Given the description of an element on the screen output the (x, y) to click on. 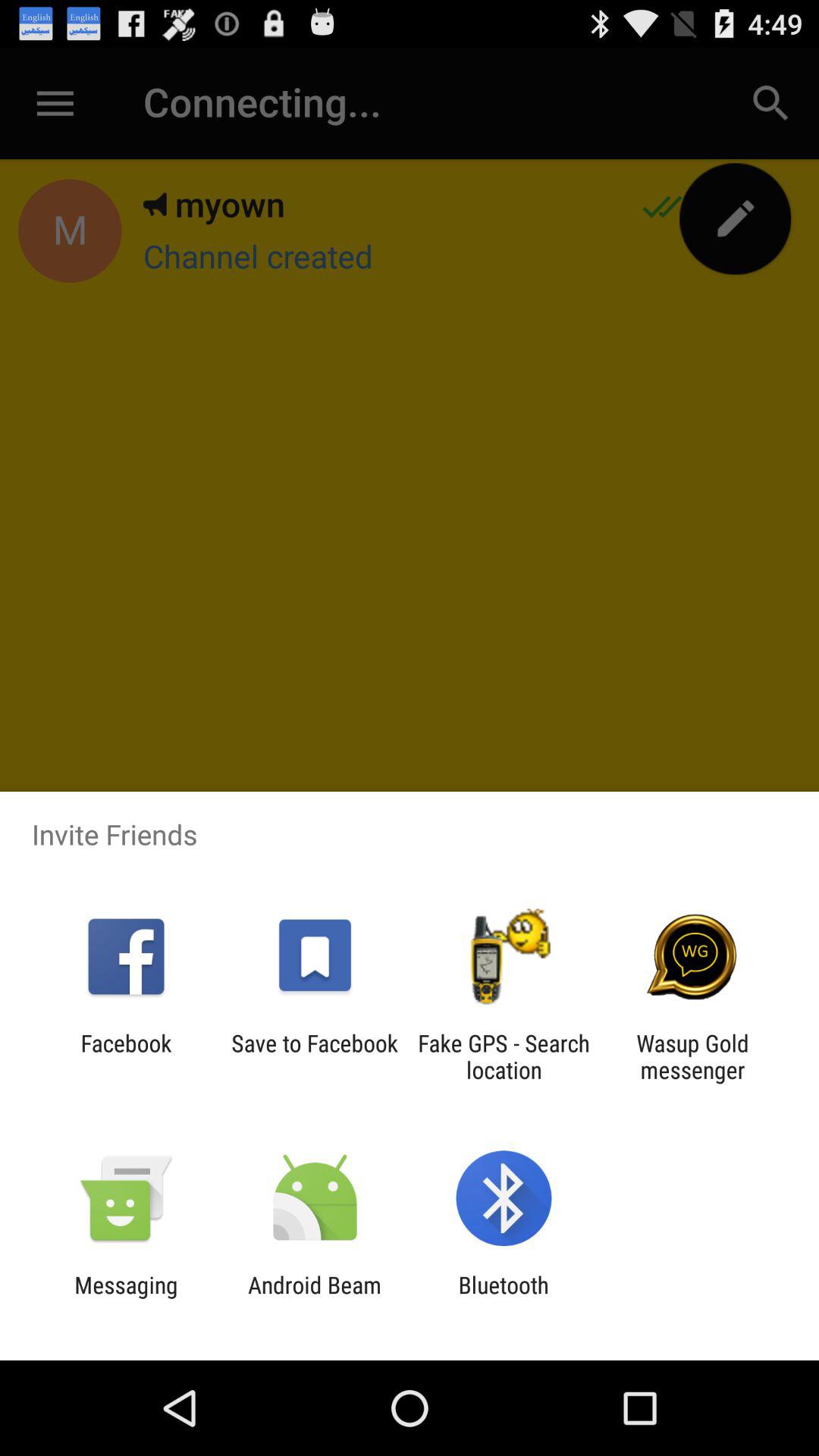
turn on app next to the fake gps search icon (692, 1056)
